Given the description of an element on the screen output the (x, y) to click on. 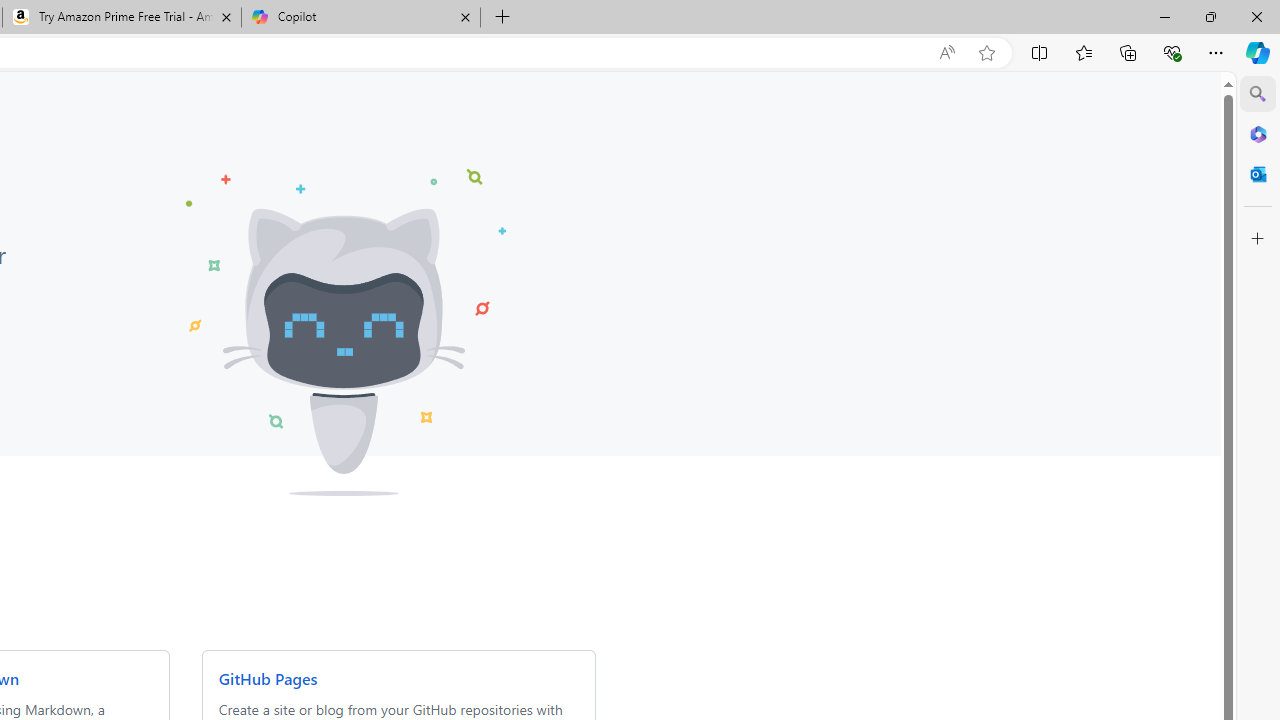
Copilot (360, 17)
